Given the description of an element on the screen output the (x, y) to click on. 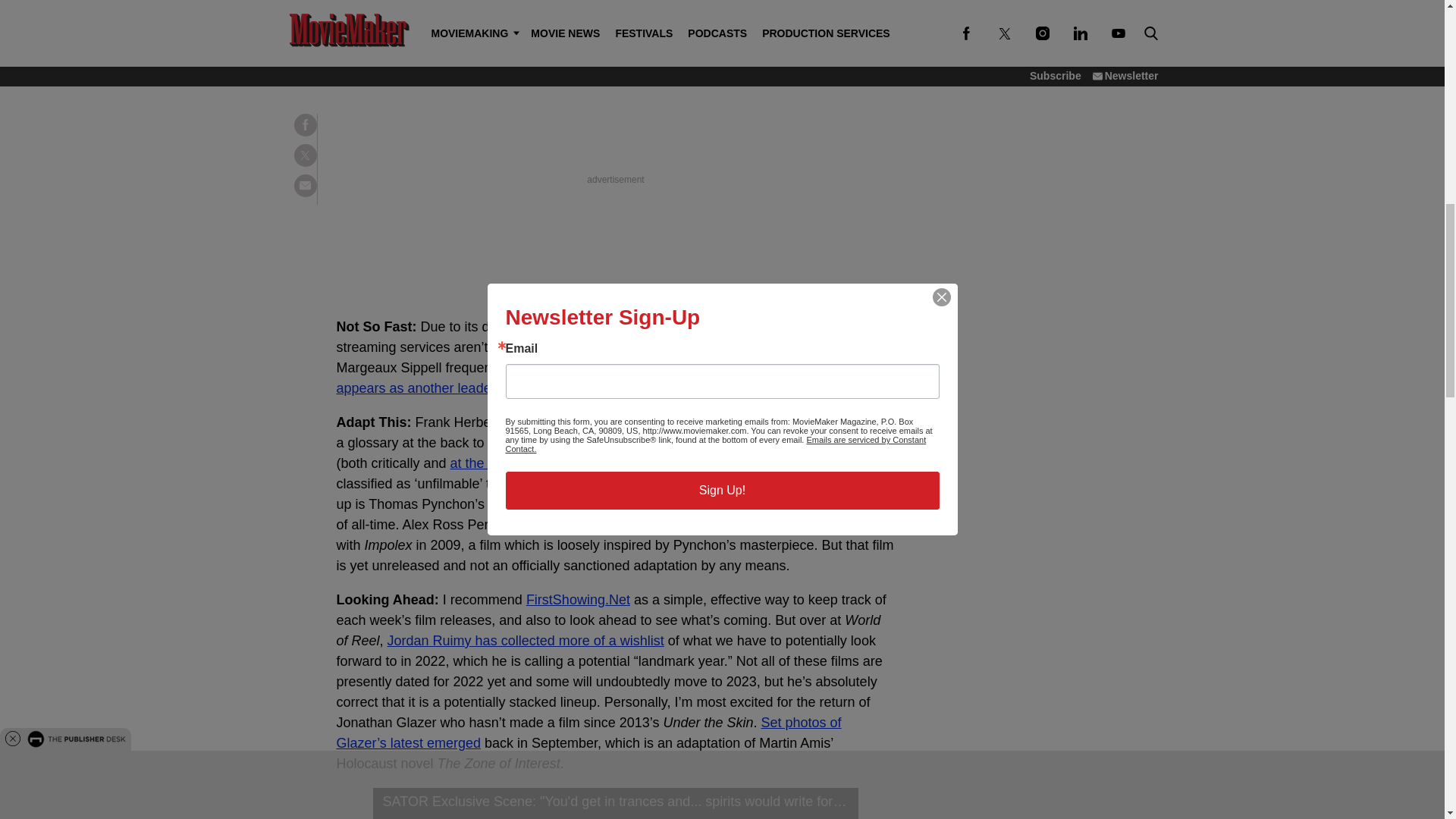
Jordan Ruimy has collected more of a wishlist (525, 640)
3rd party ad content (615, 178)
at the box office (498, 462)
Play Video (615, 803)
Variety has a list of eight other novels (670, 462)
Netflix appears as another leader (603, 377)
Steven Soderbergh love (512, 18)
FirstShowing.Net (577, 599)
